Given the description of an element on the screen output the (x, y) to click on. 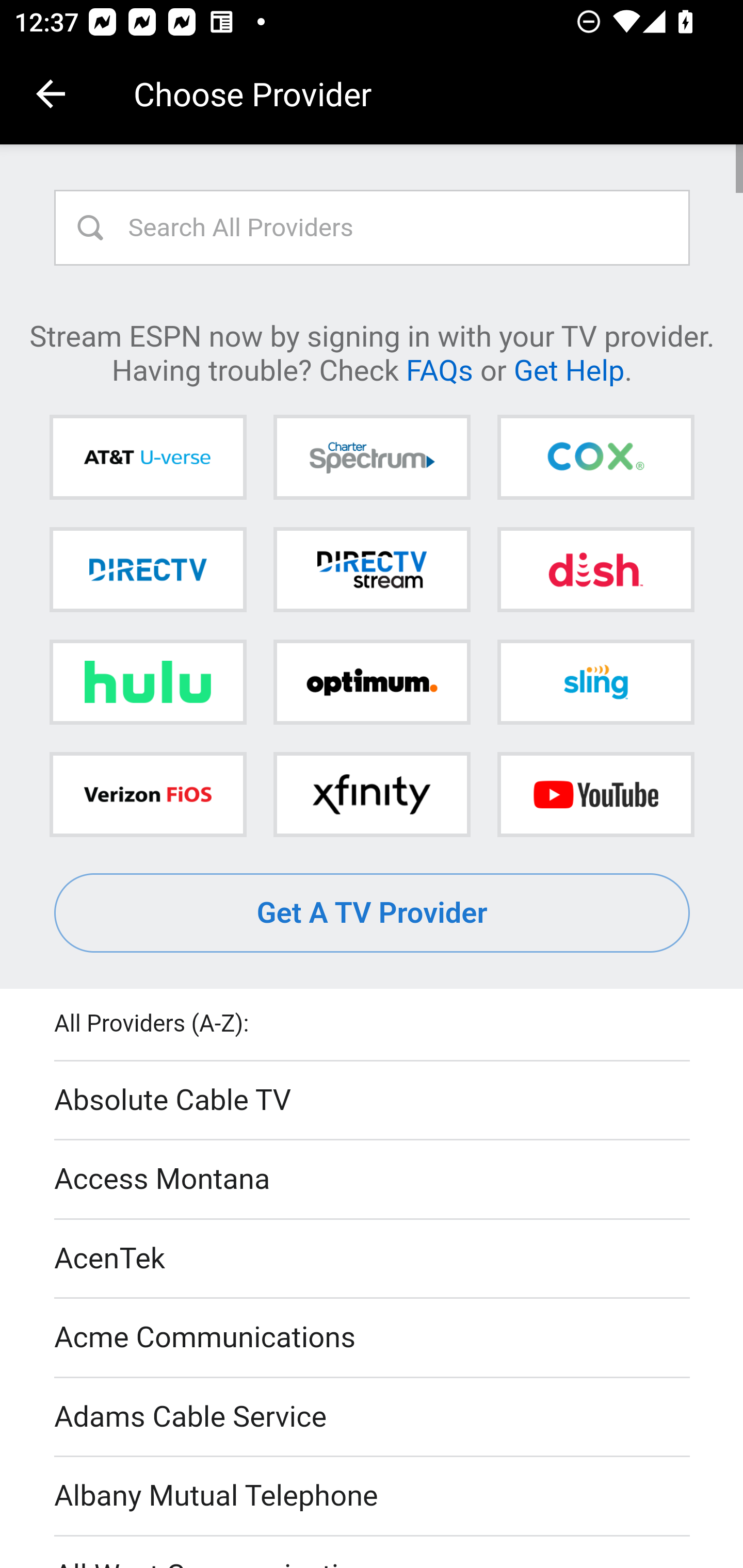
Navigate up (50, 93)
FAQs (438, 369)
Get Help (569, 369)
AT&T U-verse (147, 457)
Charter Spectrum (371, 457)
Cox (595, 457)
DIRECTV (147, 568)
DIRECTV STREAM (371, 568)
DISH (595, 568)
Hulu (147, 681)
Optimum (371, 681)
Sling TV (595, 681)
Verizon FiOS (147, 793)
Xfinity (371, 793)
YouTube TV (595, 793)
Get A TV Provider (372, 912)
Absolute Cable TV (372, 1100)
Access Montana (372, 1178)
AcenTek (372, 1258)
Acme Communications (372, 1338)
Adams Cable Service (372, 1417)
Albany Mutual Telephone (372, 1497)
